Given the description of an element on the screen output the (x, y) to click on. 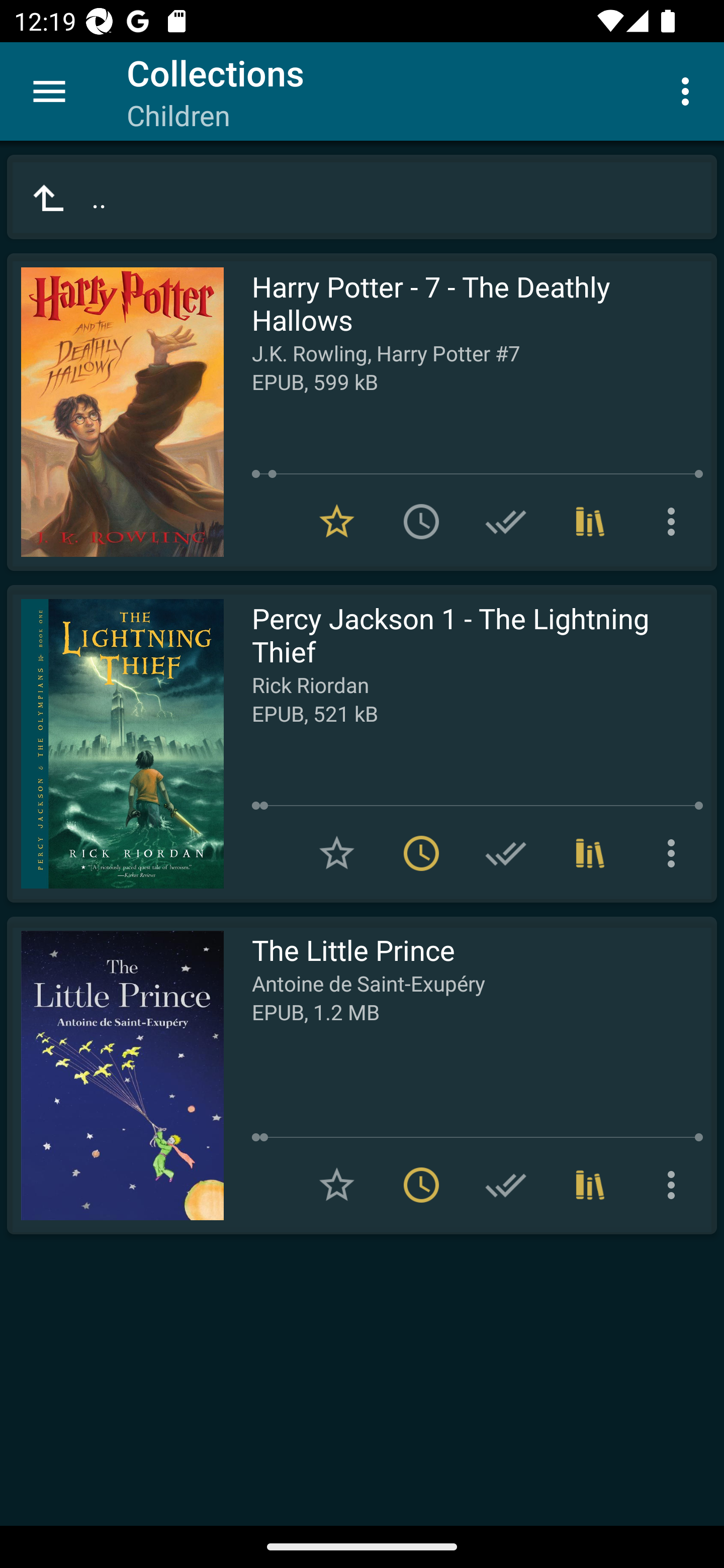
Menu (49, 91)
More options (688, 90)
.. (361, 197)
Read Harry Potter - 7 - The Deathly Hallows (115, 412)
Remove from Favorites (336, 521)
Add to To read (421, 521)
Add to Have read (505, 521)
Collections (1) (590, 521)
More options (674, 521)
Read Percy Jackson 1 - The Lightning Thief (115, 743)
Add to Favorites (336, 852)
Remove from To read (421, 852)
Add to Have read (505, 852)
Collections (1) (590, 852)
More options (674, 852)
Read The Little Prince (115, 1075)
Add to Favorites (336, 1185)
Remove from To read (421, 1185)
Add to Have read (505, 1185)
Collections (1) (590, 1185)
More options (674, 1185)
